Given the description of an element on the screen output the (x, y) to click on. 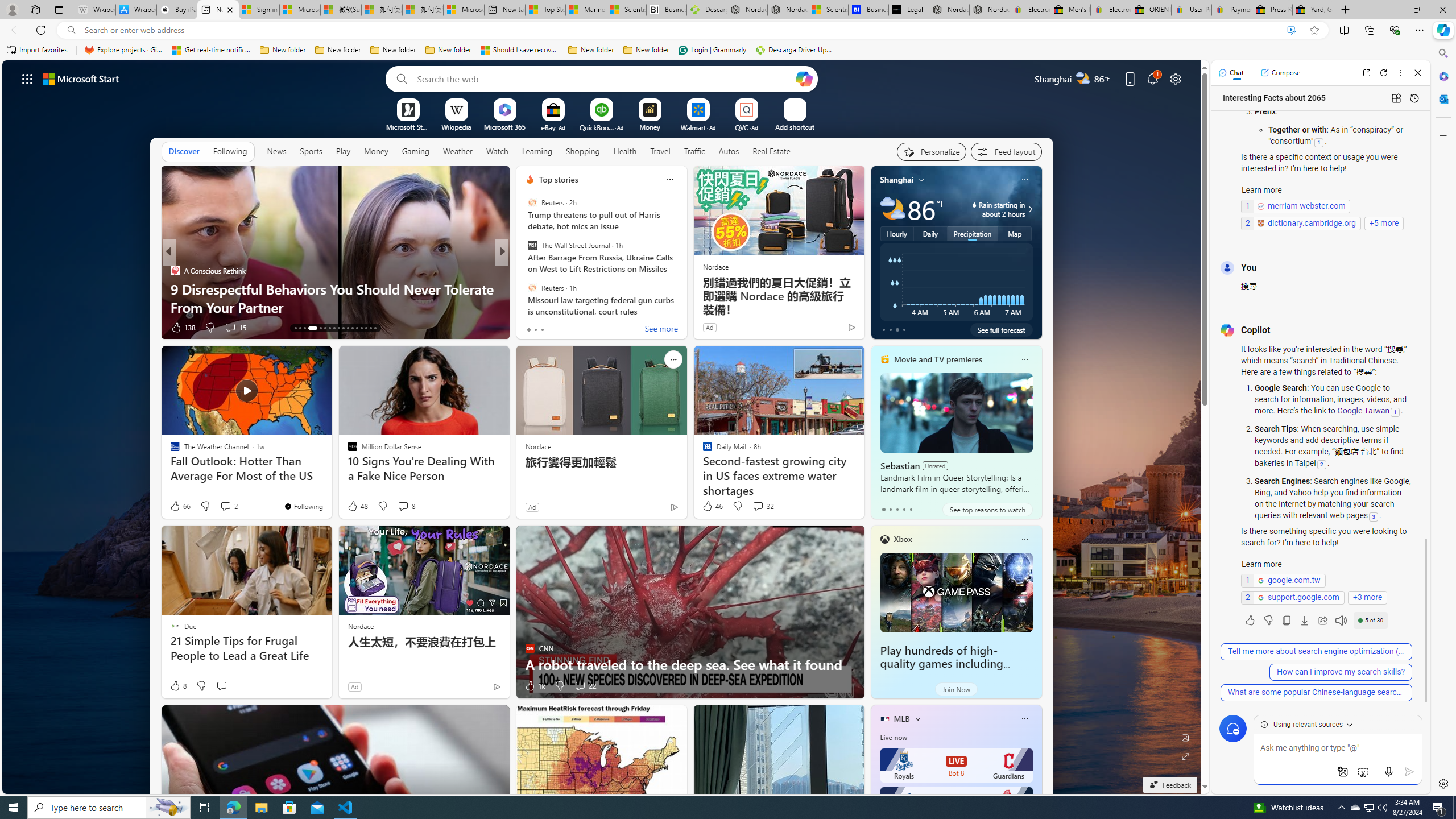
27 Like (530, 327)
AutomationID: tab-18 (324, 328)
48 Like (357, 505)
AutomationID: tab-13 (295, 328)
AutomationID: tab-36 (370, 328)
How To Fix Bad System Config Info Error In Windows (684, 307)
View comments 22 Comment (584, 685)
